Given the description of an element on the screen output the (x, y) to click on. 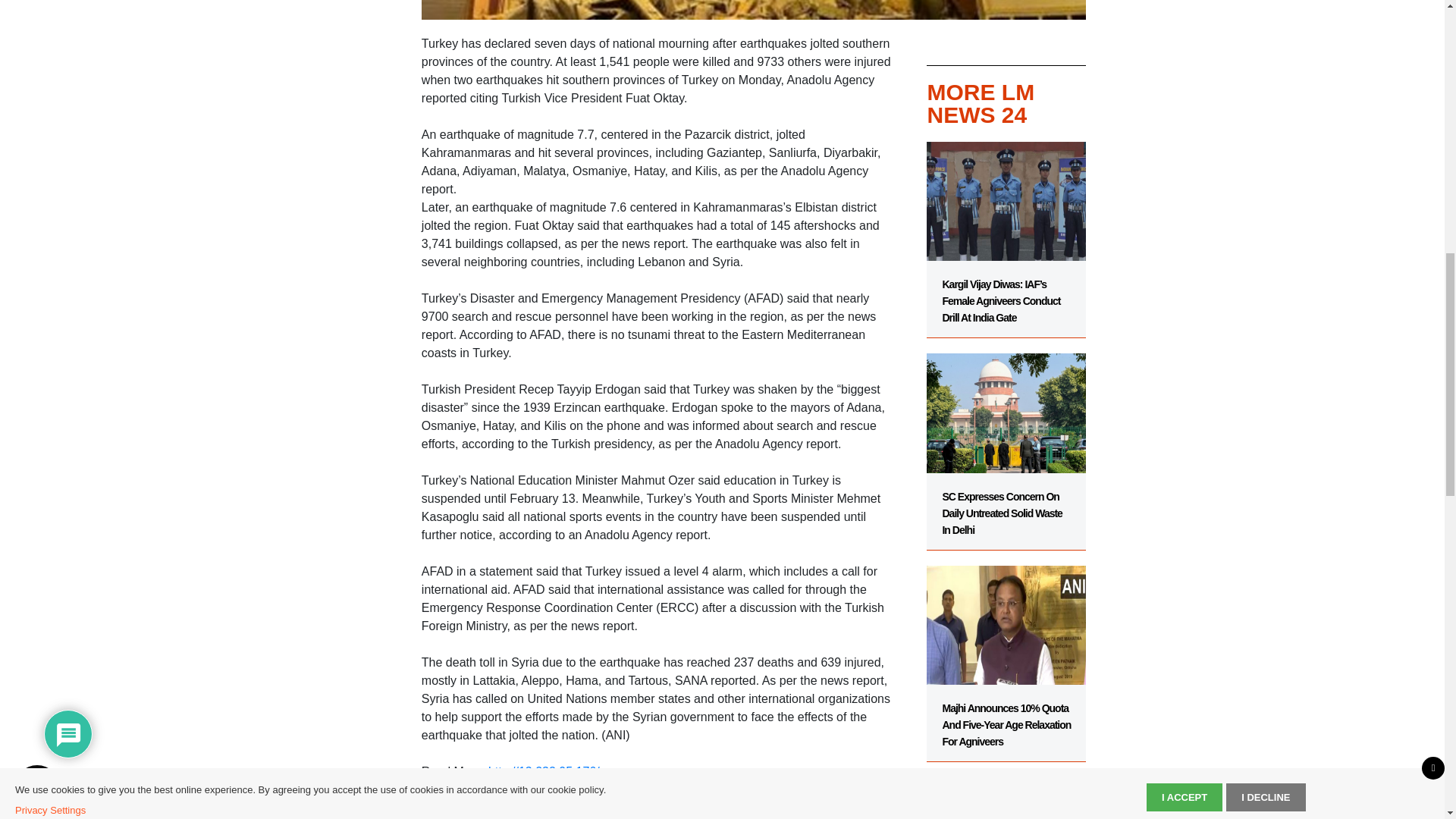
SC Expresses Concern On Daily Untreated Solid Waste In Delhi (1006, 444)
